Given the description of an element on the screen output the (x, y) to click on. 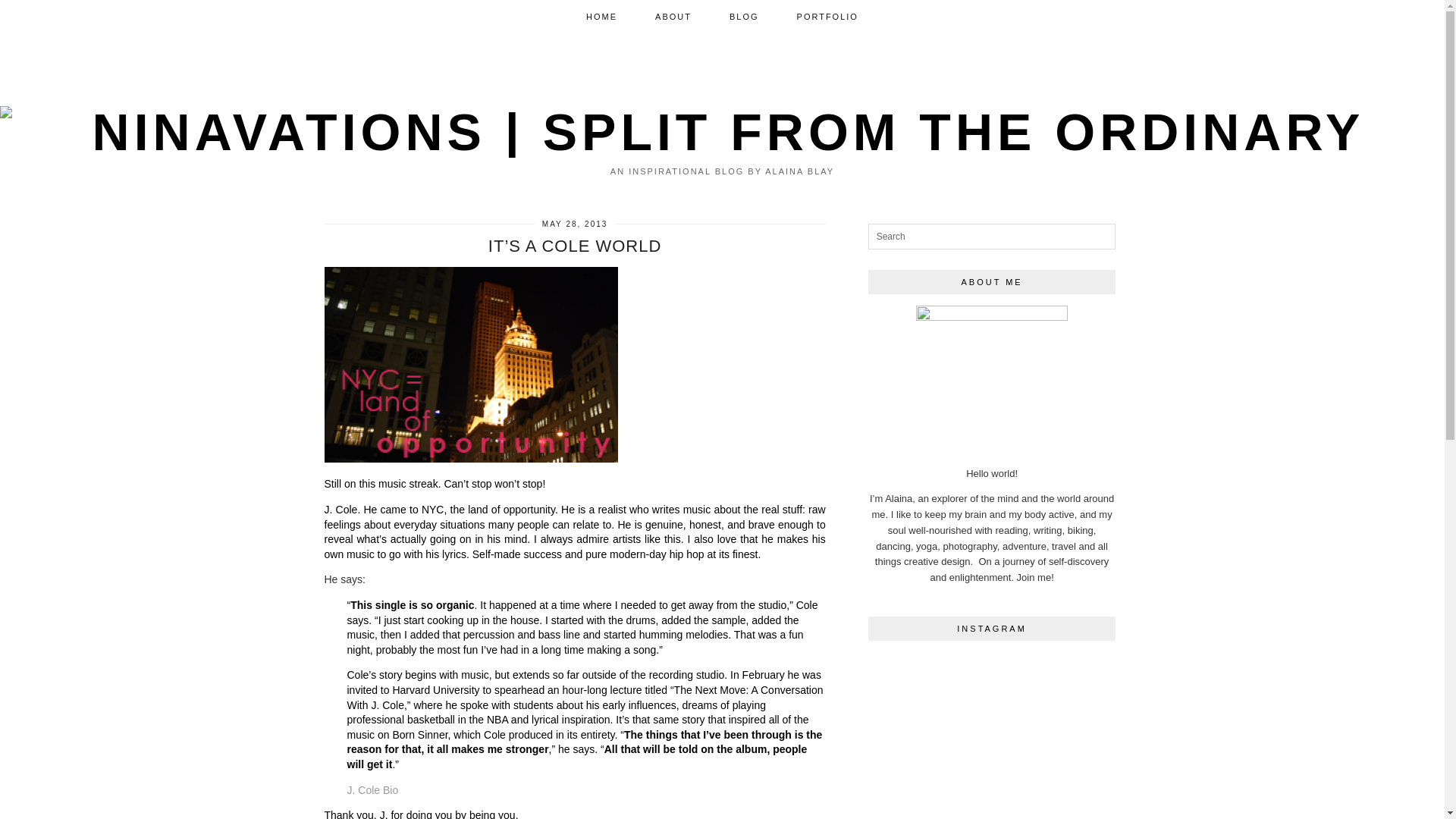
ABOUT (673, 16)
HOME (601, 16)
J. Cole Bio (372, 789)
PORTFOLIO (827, 16)
BLOG (743, 16)
